Given the description of an element on the screen output the (x, y) to click on. 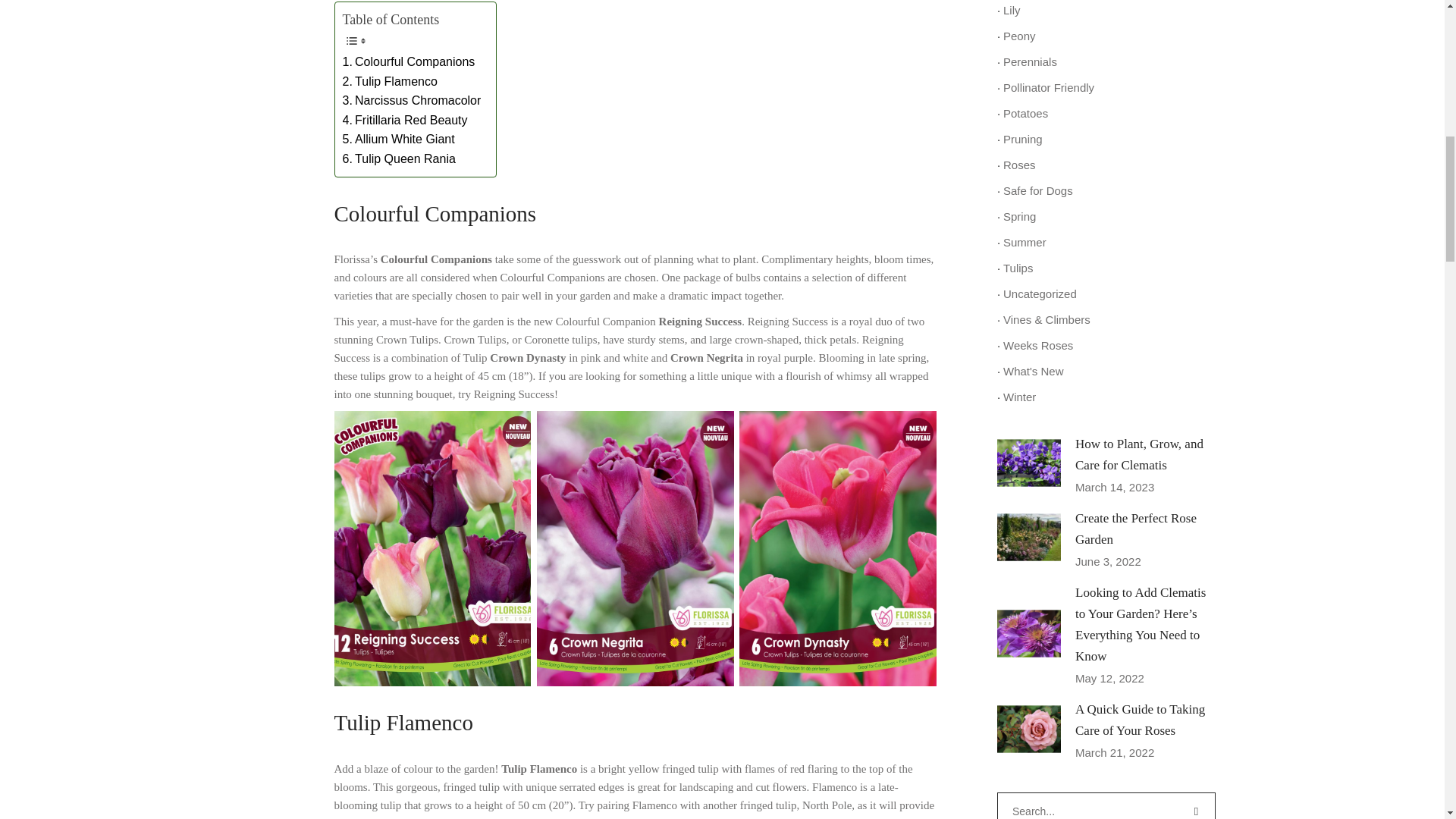
Allium White Giant (398, 139)
How to Plant, Grow, and Care for Clematis (1029, 462)
Create the Perfect Rose Garden (1135, 529)
Tulip Flamenco (390, 81)
A Quick Guide to Taking Care of Your Roses (1140, 719)
Tulip Flamenco (390, 81)
Fritillaria Red Beauty (404, 120)
Narcissus Chromacolor (411, 100)
Create the Perfect Rose Garden (1029, 537)
Tulip Queen Rania (398, 158)
